Given the description of an element on the screen output the (x, y) to click on. 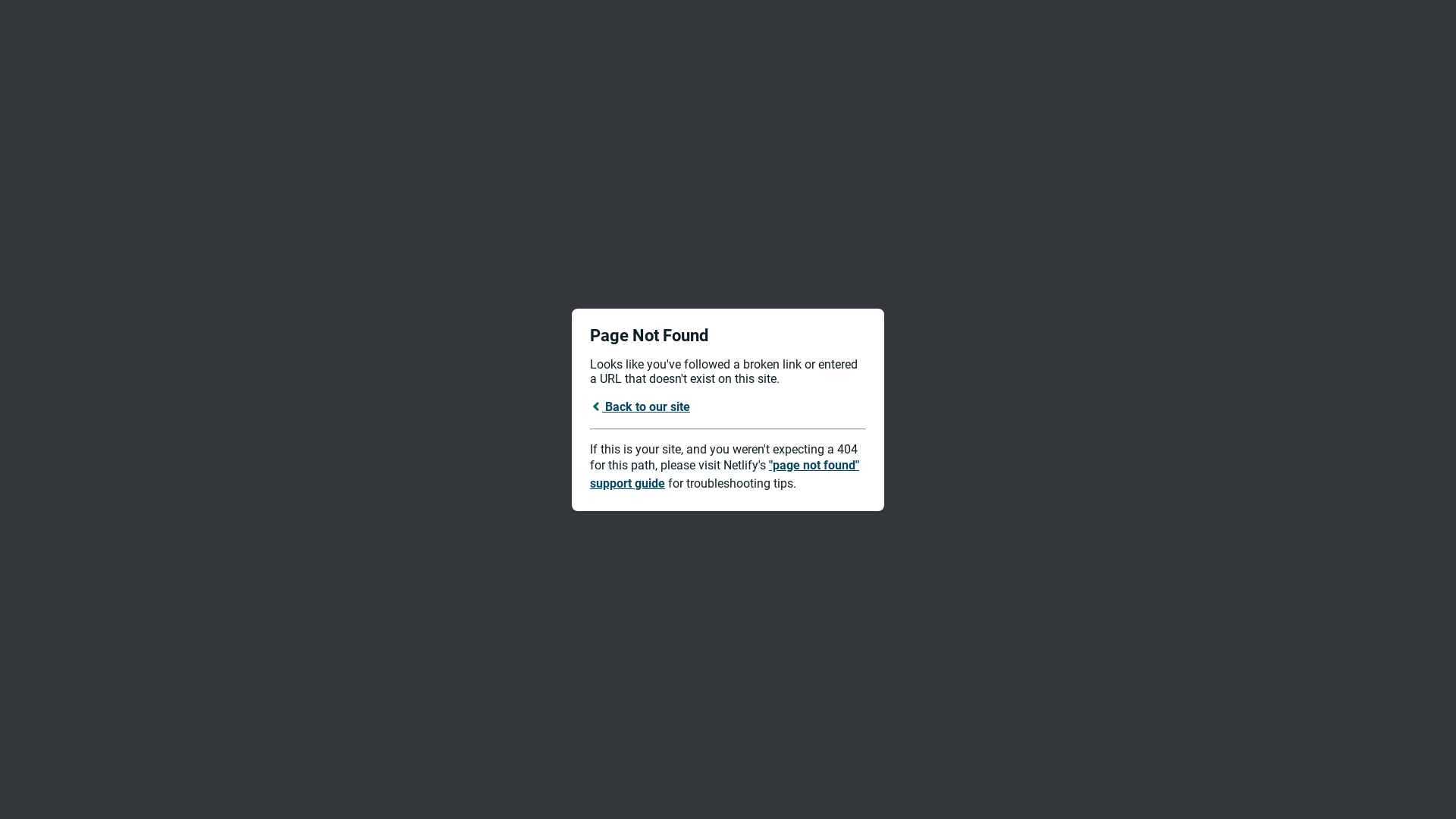
Back to our site Element type: text (639, 405)
"page not found" support guide Element type: text (724, 474)
